Given the description of an element on the screen output the (x, y) to click on. 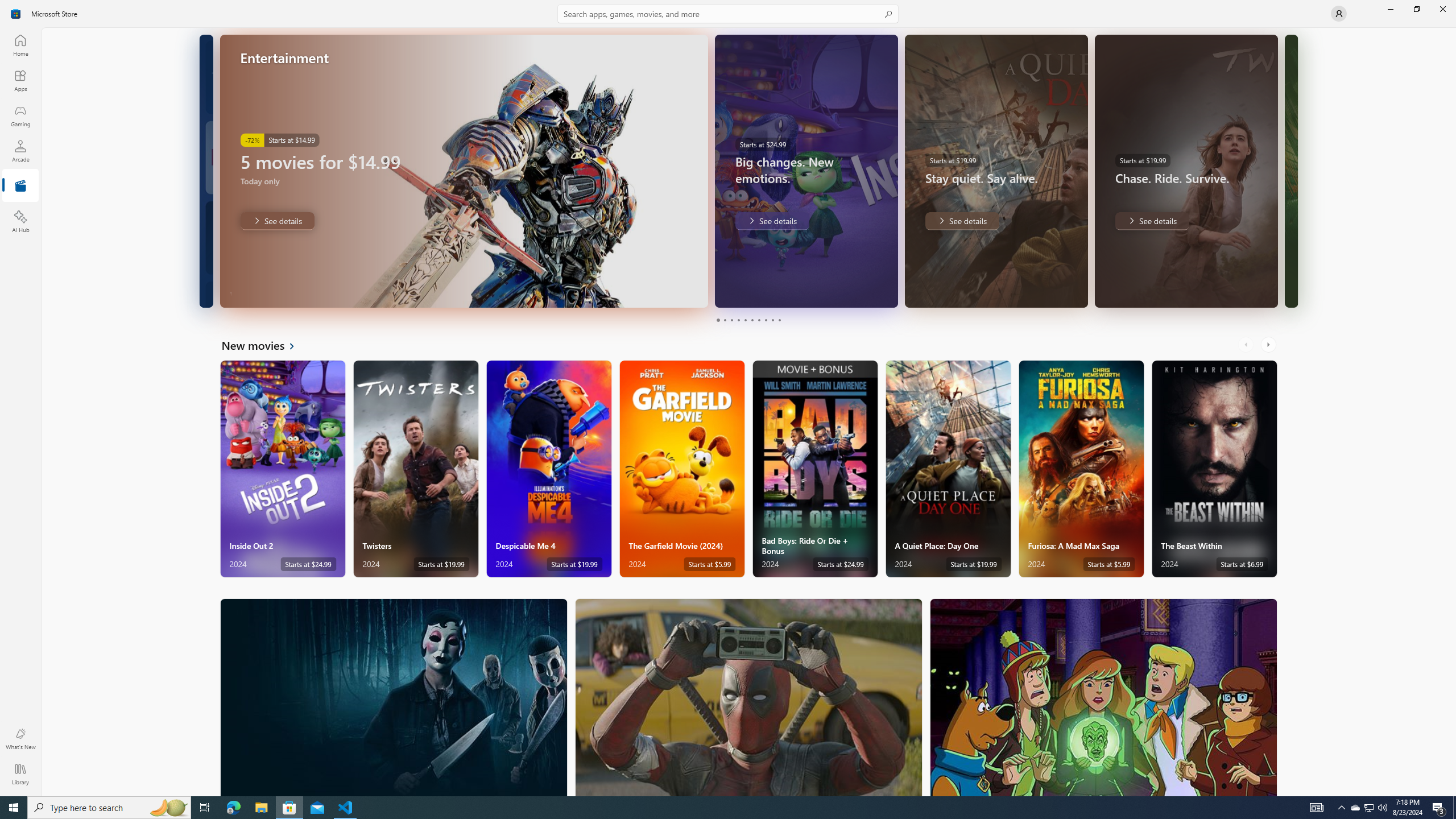
Entertainment (20, 185)
Unmute (691, 291)
Horror (393, 697)
Pager (748, 319)
Page 9 (772, 319)
AutomationID: PosterImage (1103, 697)
Class: Image (15, 13)
AutomationID: RightScrollButton (1269, 344)
Page 6 (751, 319)
Action & Adventure (749, 697)
Search (727, 13)
